Given the description of an element on the screen output the (x, y) to click on. 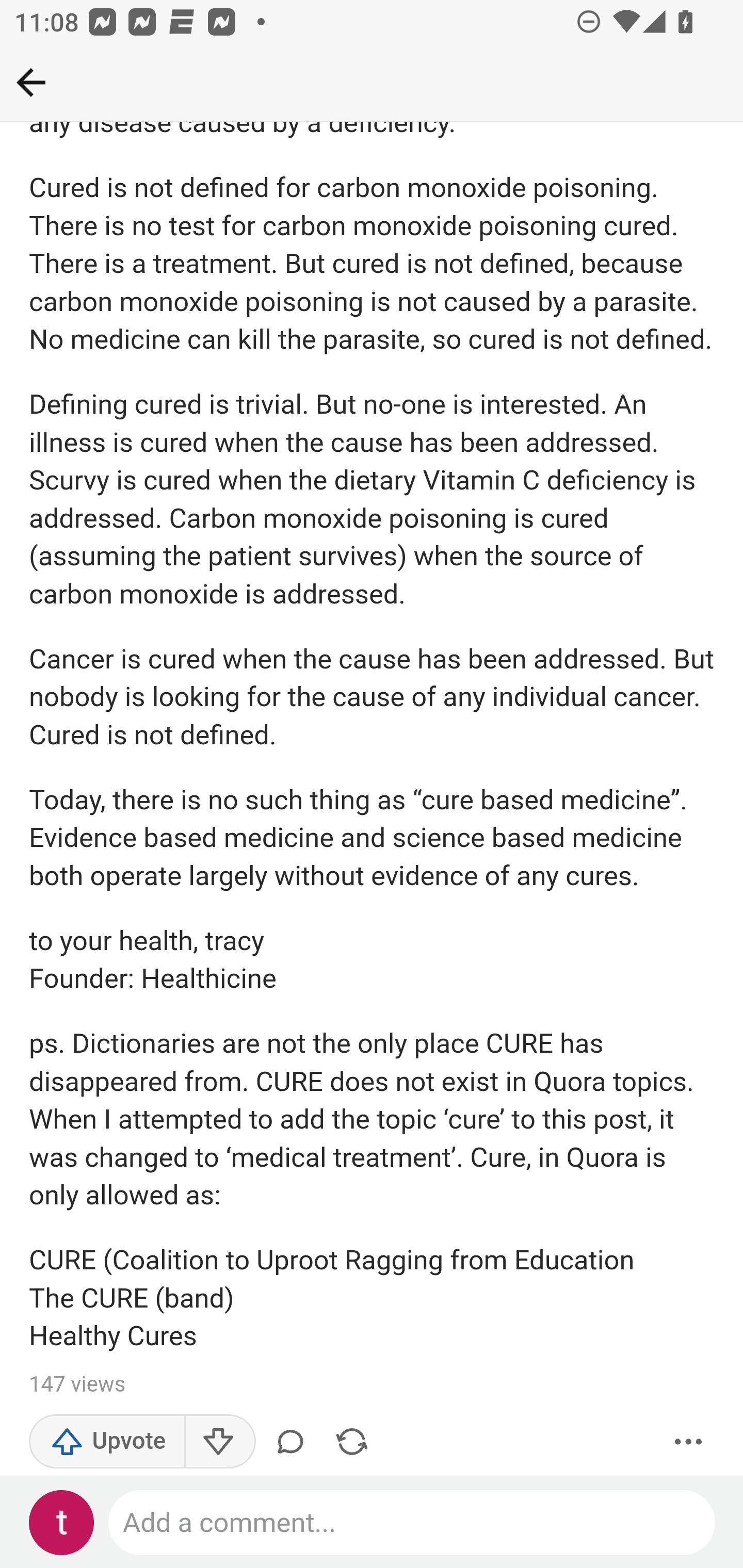
Back (30, 82)
Upvote (106, 1442)
Downvote (219, 1442)
Comment (293, 1442)
Share (351, 1442)
More (688, 1442)
Profile photo for Test Appium (61, 1523)
Add a comment... (412, 1523)
